Given the description of an element on the screen output the (x, y) to click on. 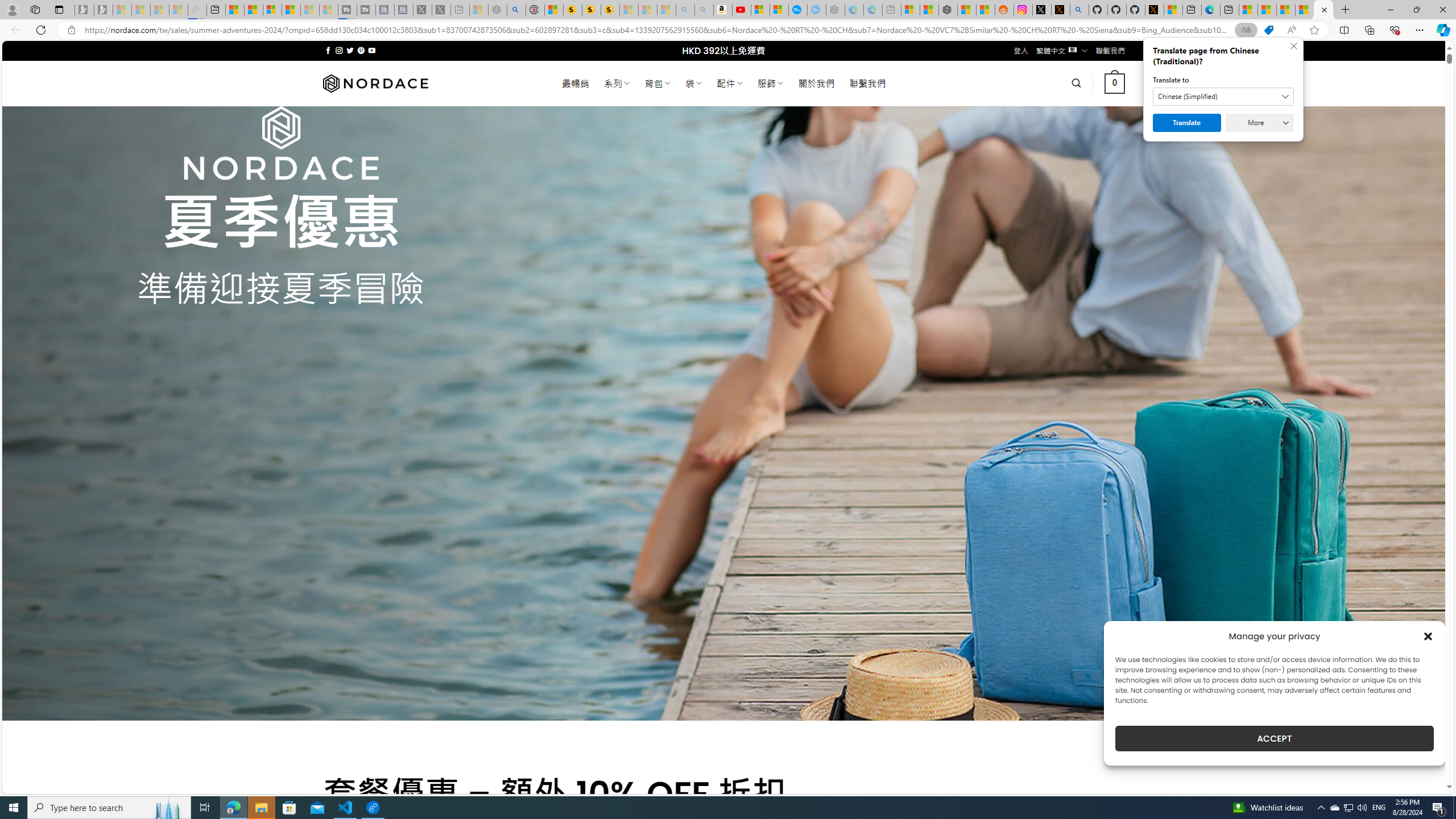
Minimize (1390, 9)
New Tab (1346, 9)
Microsoft Start - Sleeping (309, 9)
Address and search bar (658, 29)
Browser essentials (1394, 29)
Michelle Starr, Senior Journalist at ScienceAlert (609, 9)
Copilot (Ctrl+Shift+.) (1442, 29)
Microsoft account | Microsoft Account Privacy Settings (910, 9)
Read aloud this page (Ctrl+Shift+U) (1291, 29)
App bar (728, 29)
